Given the description of an element on the screen output the (x, y) to click on. 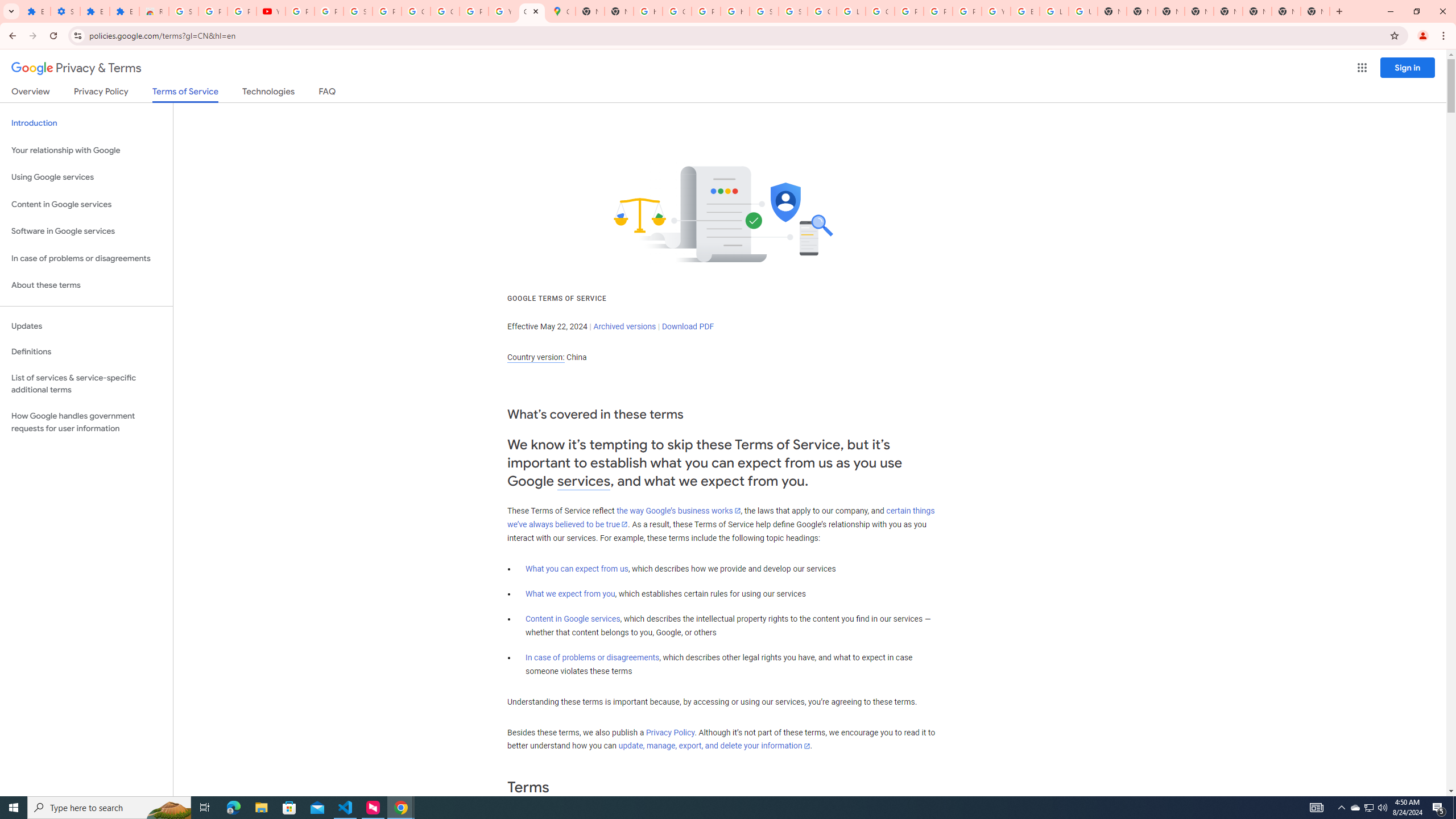
Country version: (535, 357)
Software in Google services (86, 230)
